Given the description of an element on the screen output the (x, y) to click on. 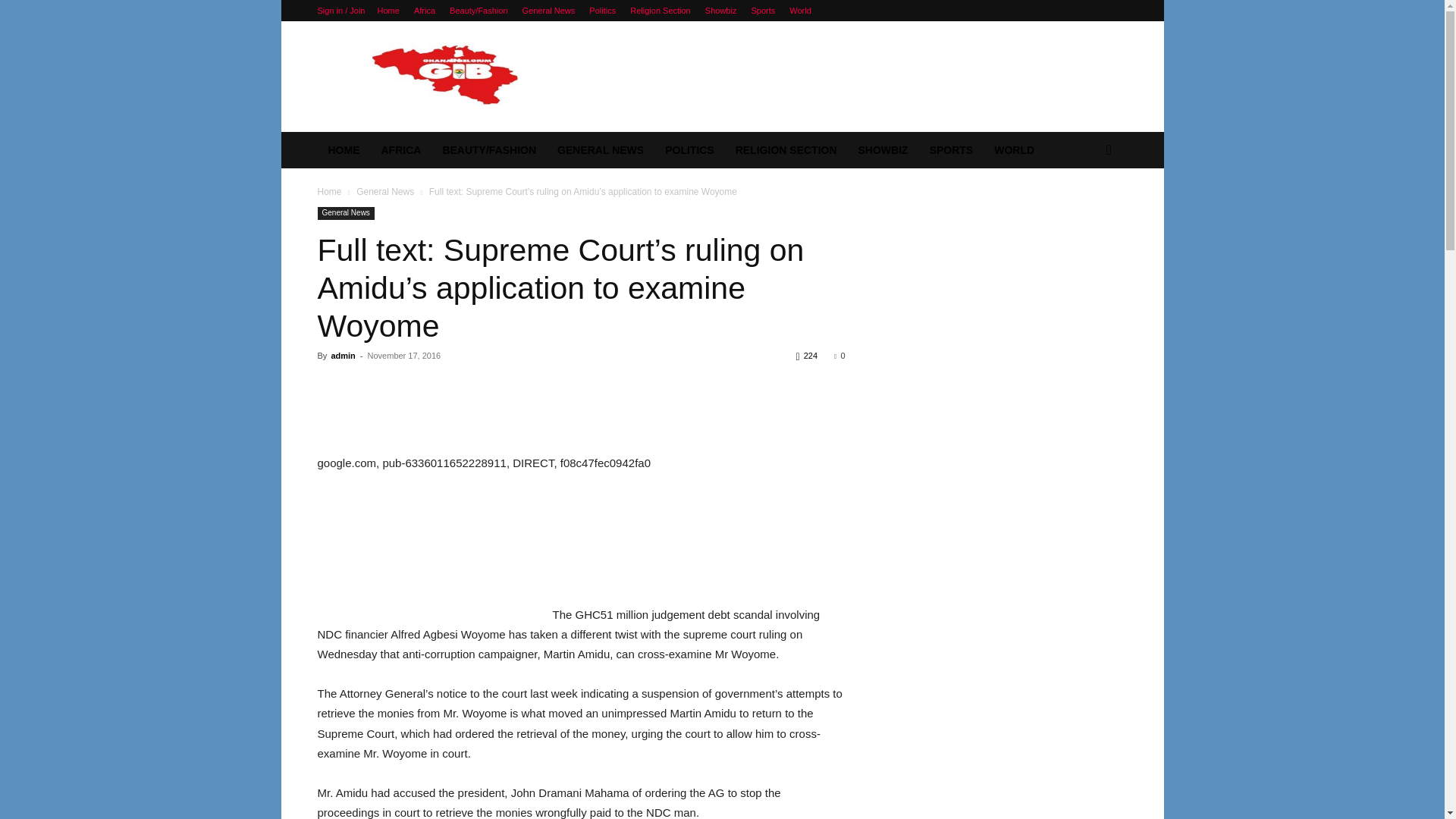
Home (387, 10)
Religion Section (660, 10)
World (799, 10)
AFRICA (399, 149)
View all posts in General News (384, 191)
Showbiz (720, 10)
Politics (602, 10)
General News (548, 10)
HOME (343, 149)
Africa (424, 10)
Sports (762, 10)
